Given the description of an element on the screen output the (x, y) to click on. 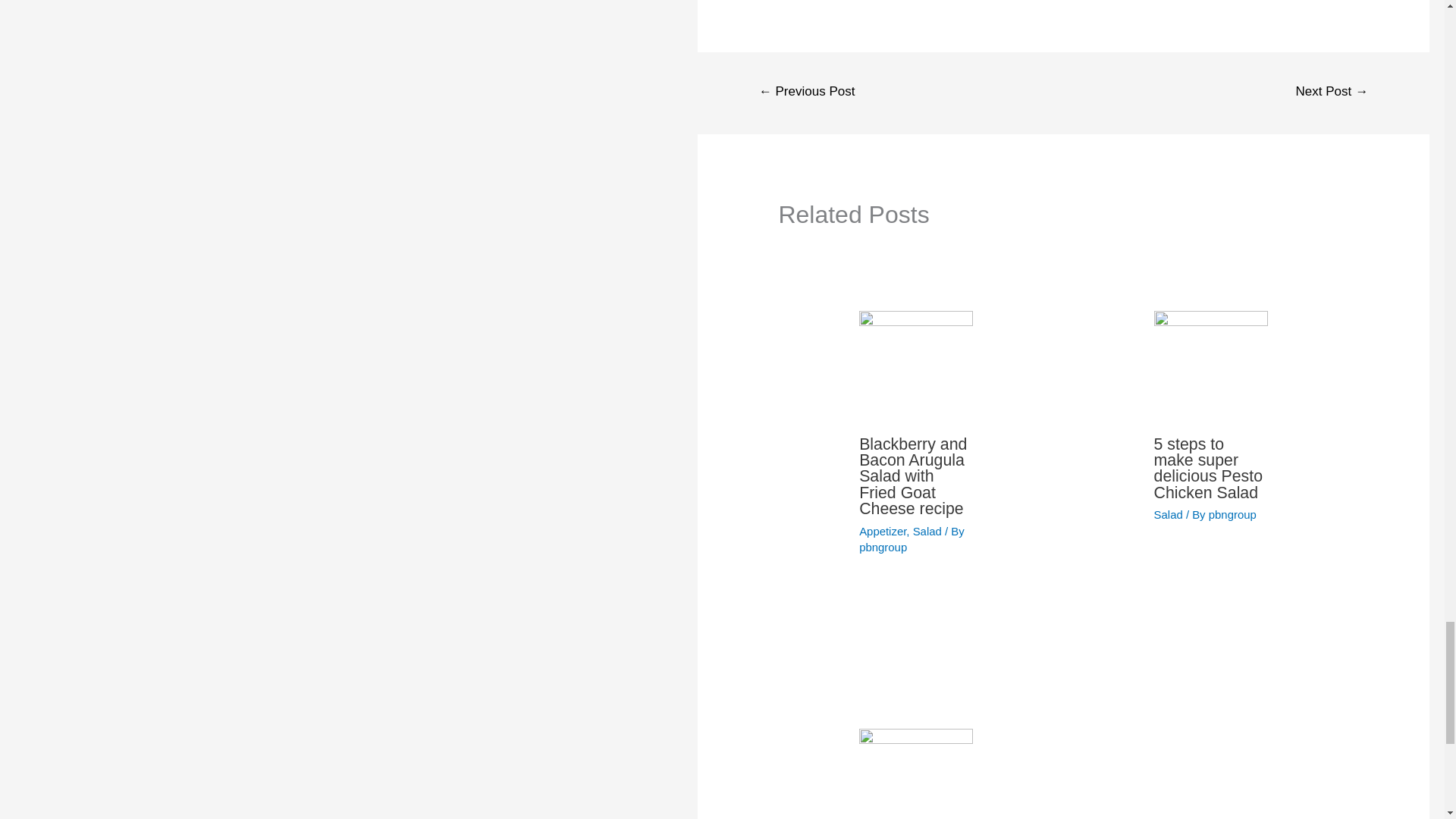
View all posts by pbngroup (1232, 513)
View all posts by pbngroup (883, 546)
